Given the description of an element on the screen output the (x, y) to click on. 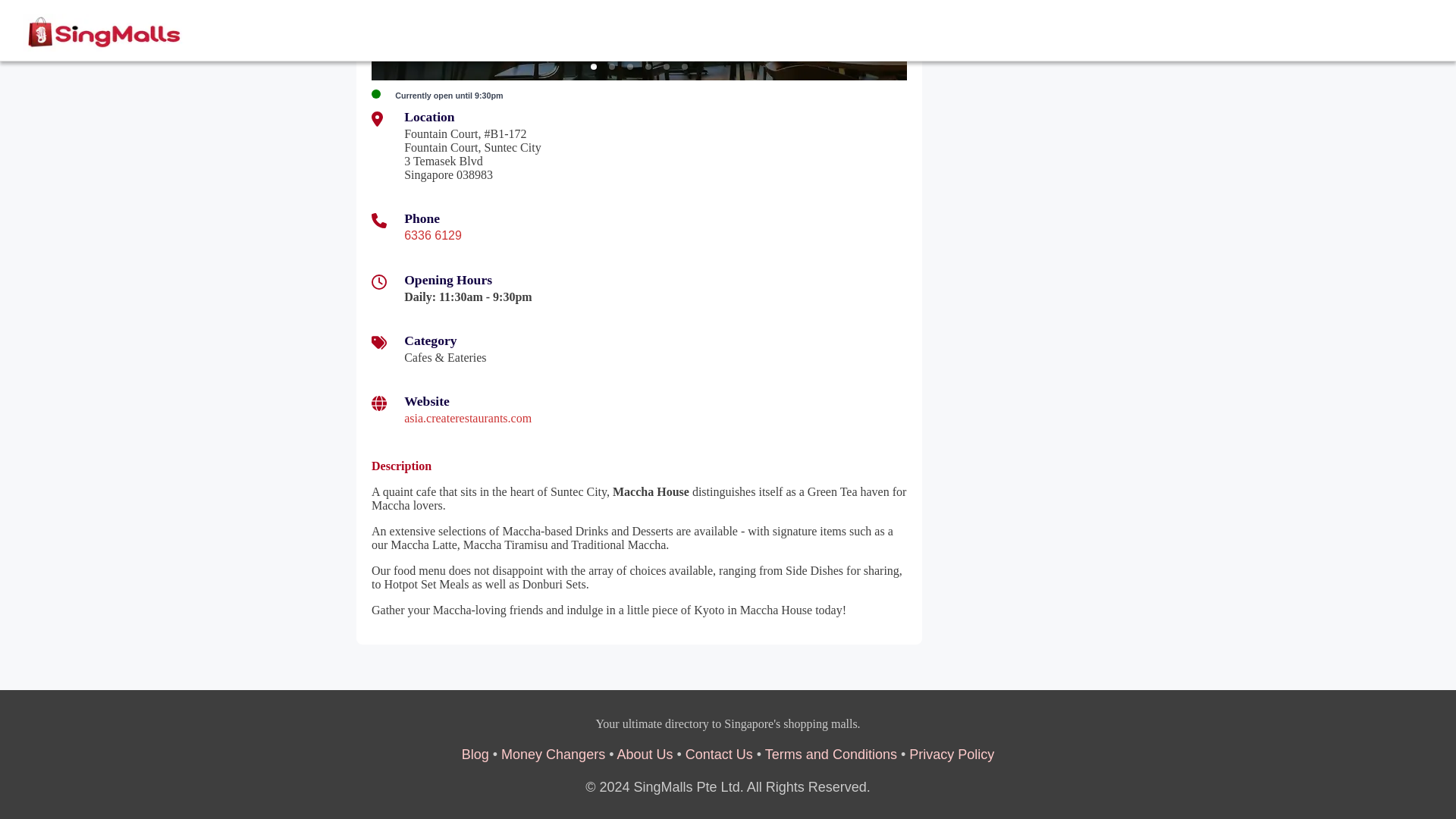
Blog (475, 754)
asia.createrestaurants.com (467, 418)
Contact Us (718, 754)
About Us (643, 754)
Terms and Conditions (830, 754)
6336 6129 (432, 235)
Privacy Policy (951, 754)
Money Changers (552, 754)
